Given the description of an element on the screen output the (x, y) to click on. 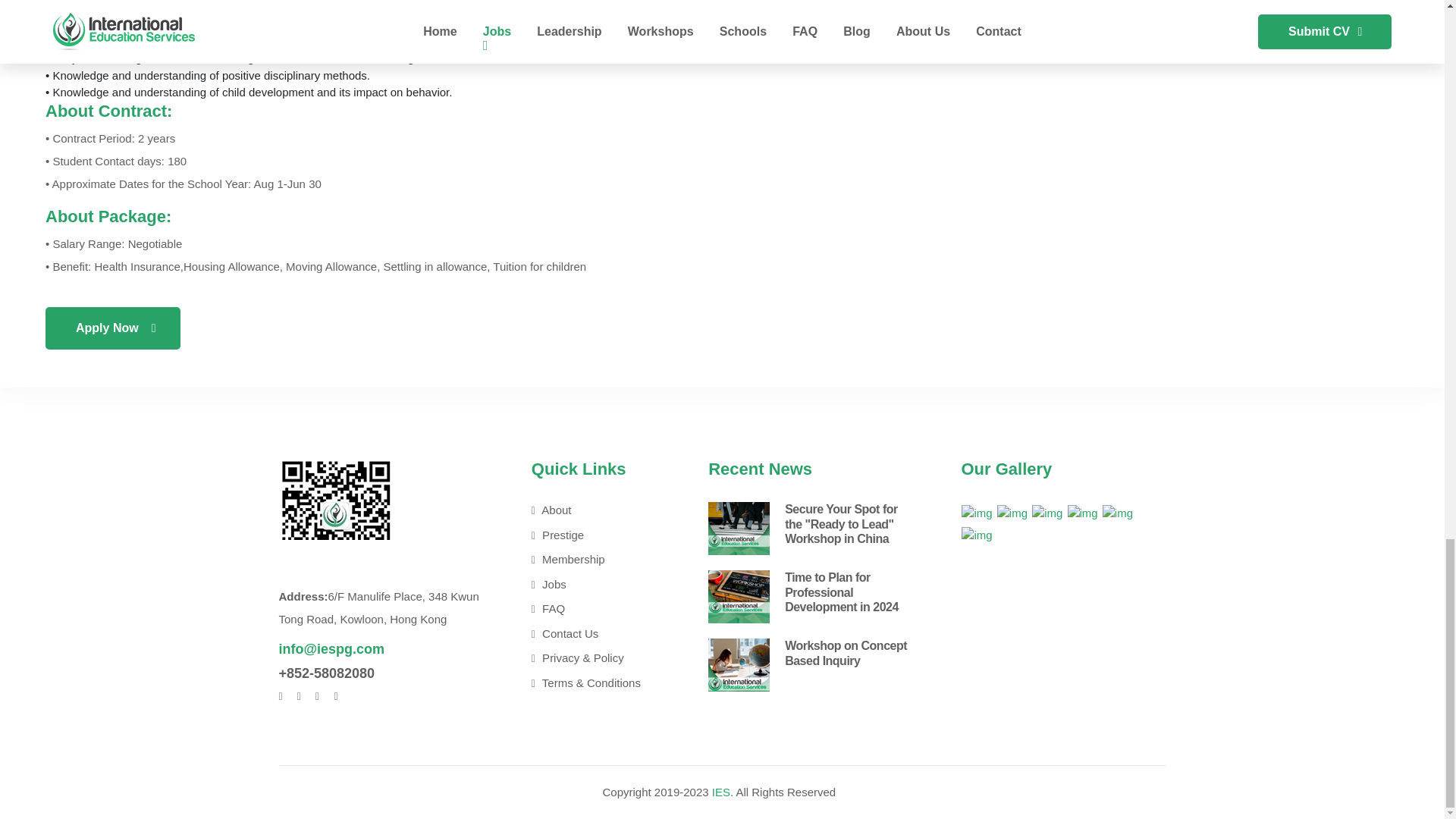
Contact Us (596, 633)
Apply Now (112, 328)
Prestige (596, 535)
Jobs (596, 584)
FAQ (596, 609)
About (596, 510)
Membership (596, 559)
Time to Plan for Professional Development in 2024 (841, 591)
Workshop on Concept Based Inquiry (845, 652)
Secure Your Spot for the "Ready to Lead" Workshop in China (841, 523)
